Given the description of an element on the screen output the (x, y) to click on. 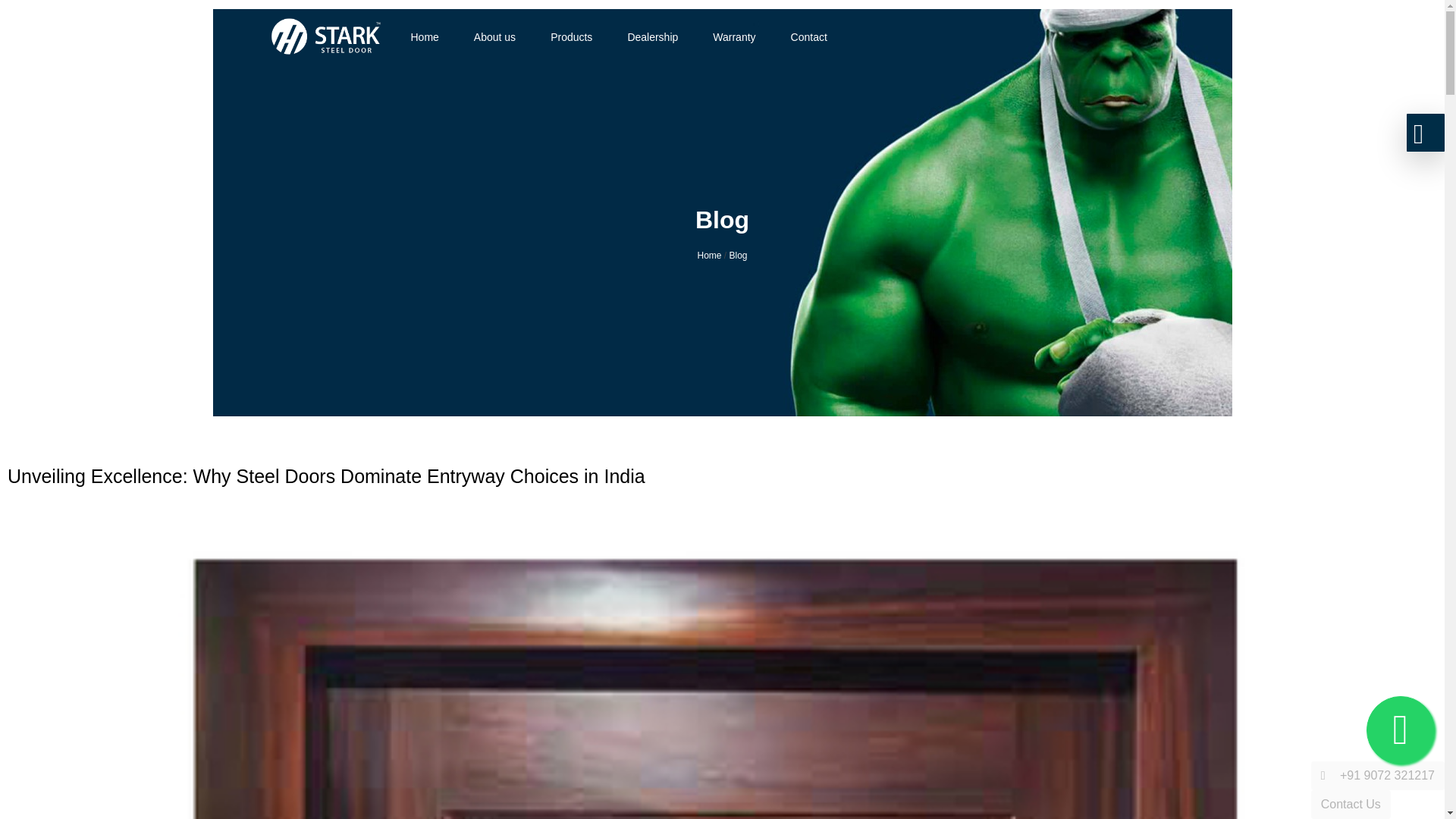
Home (708, 255)
Home (424, 36)
Dealership (652, 36)
Products (571, 36)
Contact (808, 36)
Warranty (734, 36)
About us (494, 36)
